Given the description of an element on the screen output the (x, y) to click on. 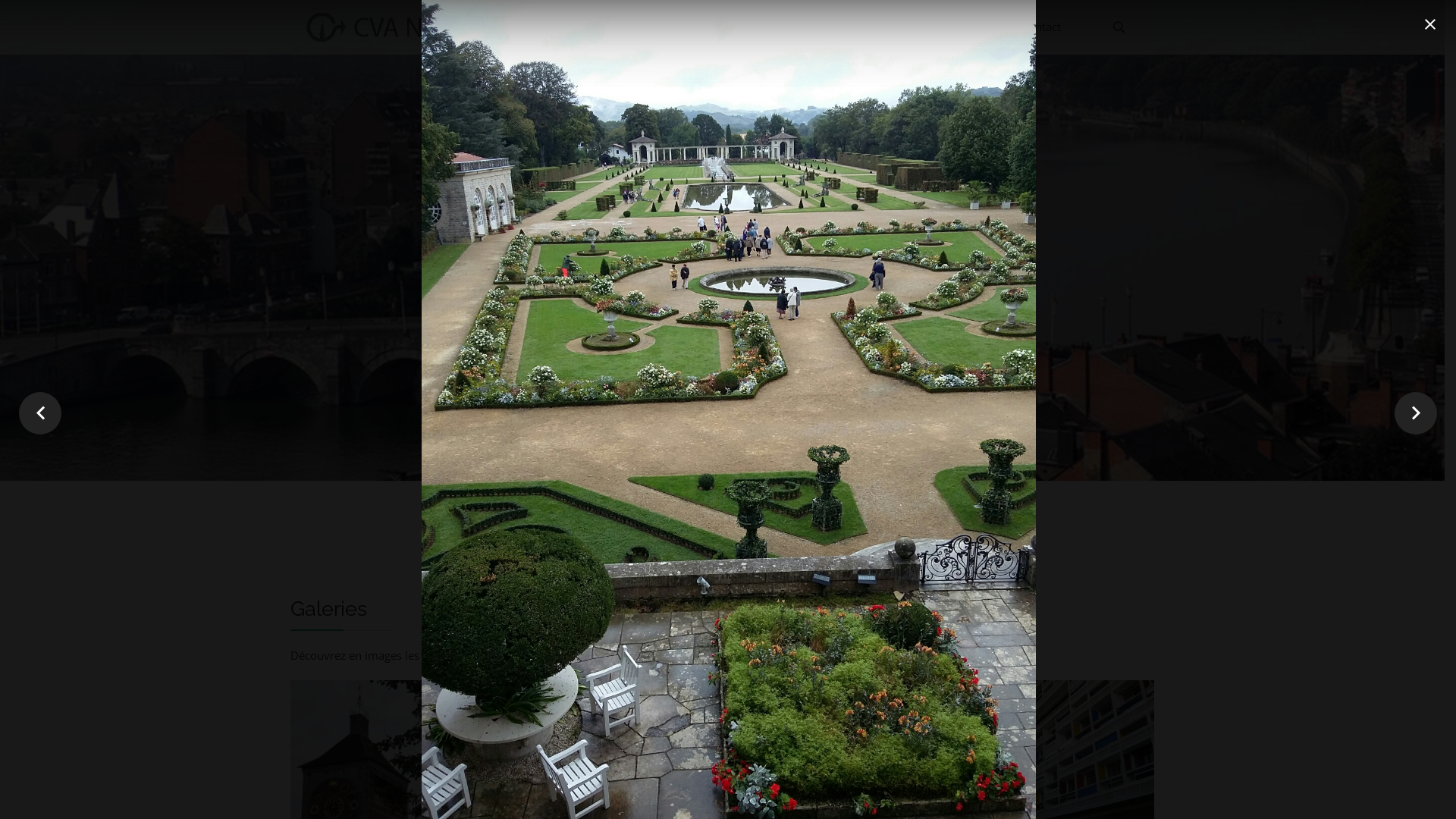
Contact Element type: text (1040, 26)
Galeries Element type: text (970, 27)
Accueil Element type: text (594, 26)
Voyages Element type: text (817, 26)
Excursions Element type: text (746, 26)
Formations Element type: text (890, 26)
